Given the description of an element on the screen output the (x, y) to click on. 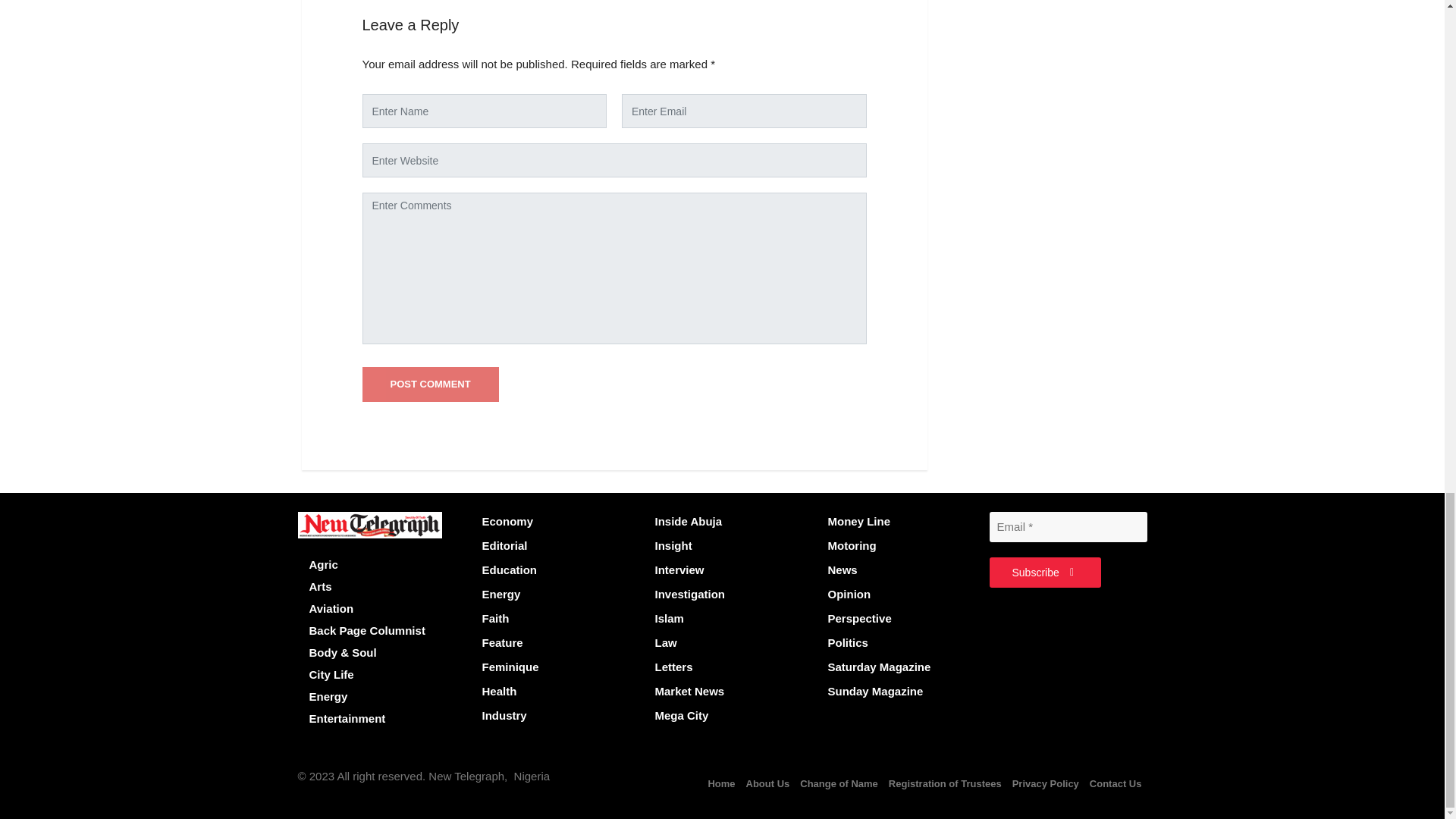
Post Comment (430, 384)
